Given the description of an element on the screen output the (x, y) to click on. 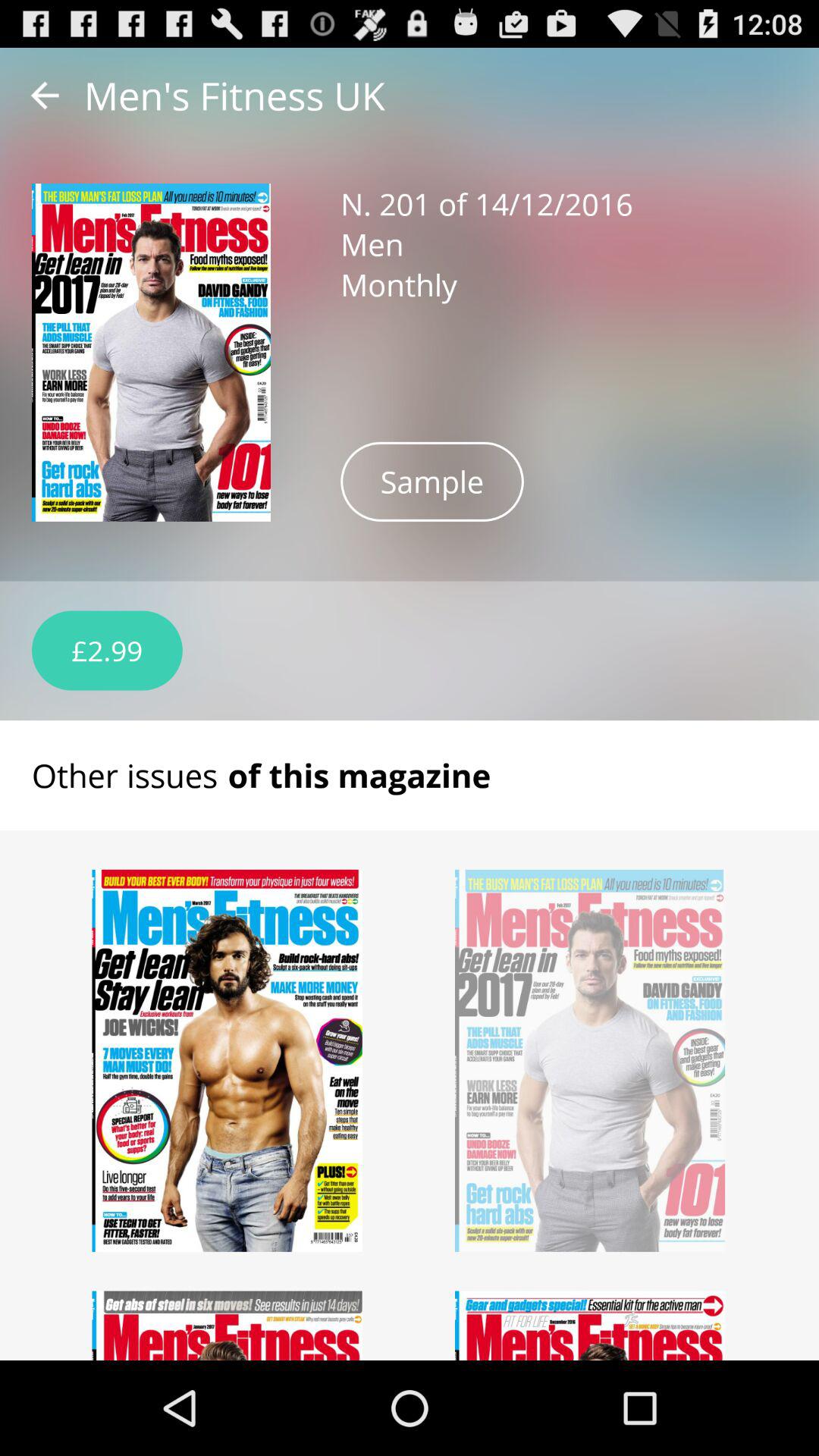
launch sample icon (431, 481)
